Given the description of an element on the screen output the (x, y) to click on. 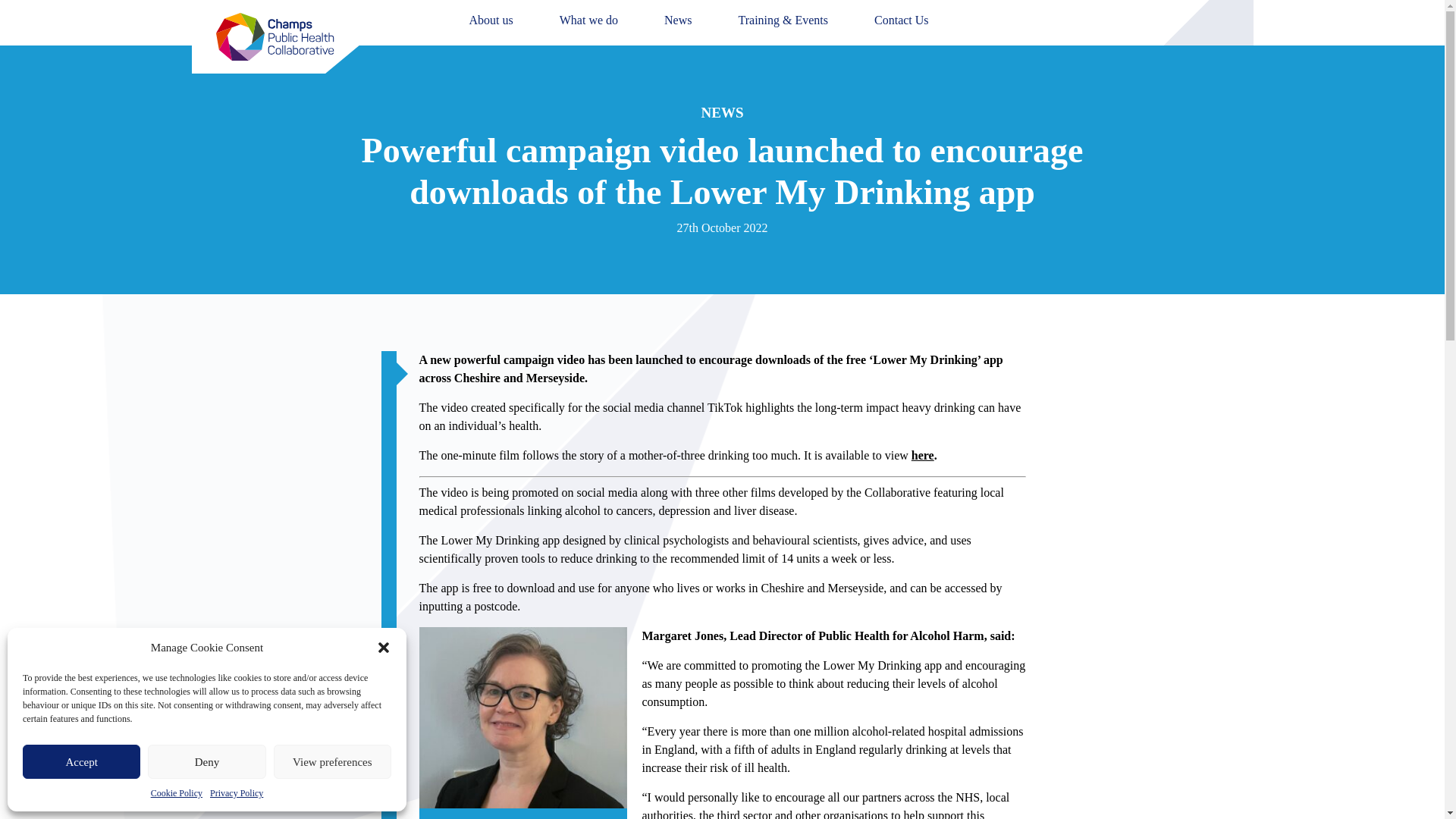
Accept (81, 761)
Deny (206, 761)
Cookie Policy (176, 793)
News (677, 19)
Champs Public Health Collaborative (274, 36)
What we do (588, 19)
About us (490, 19)
View preferences (332, 761)
Contact Us (901, 19)
Privacy Policy (236, 793)
